Given the description of an element on the screen output the (x, y) to click on. 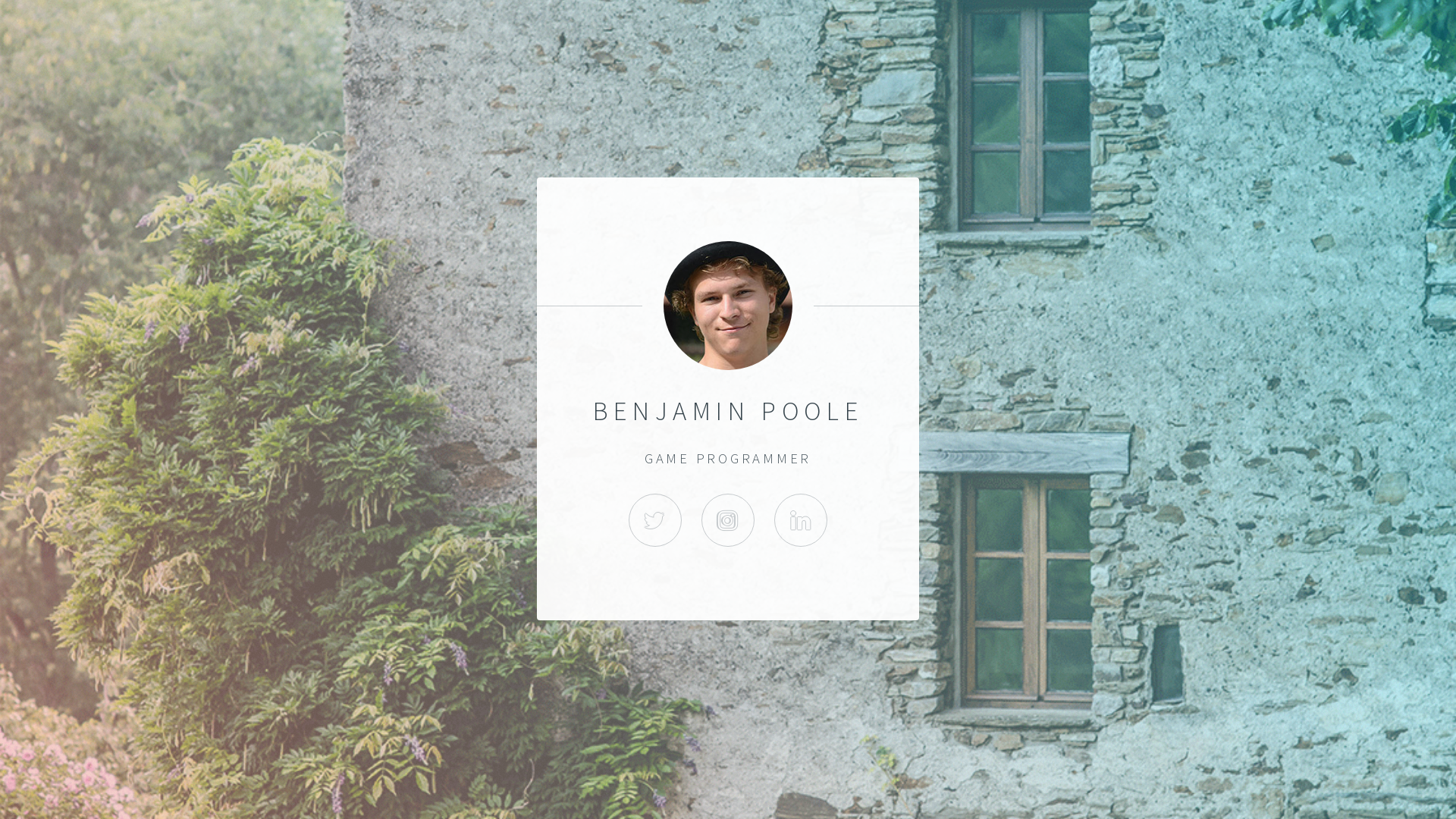
LINKED-IN Element type: text (800, 519)
TWITTER Element type: text (654, 519)
INSTAGRAM Element type: text (727, 519)
